Given the description of an element on the screen output the (x, y) to click on. 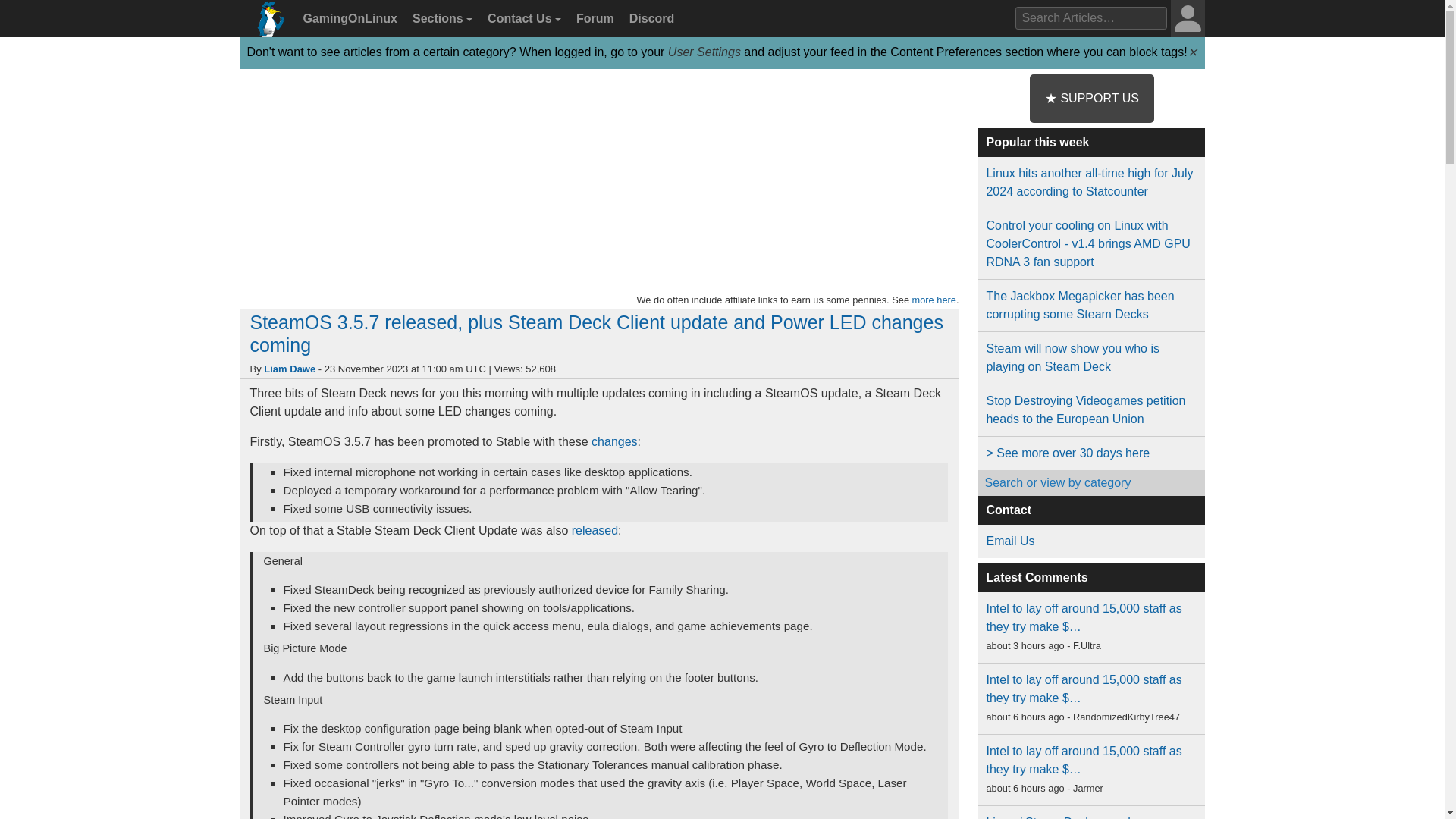
Contact Us (522, 19)
Forum (593, 19)
GamingOnLinux Home (267, 23)
Discord (649, 19)
GamingOnLinux (348, 19)
User Settings (704, 51)
Sections (440, 19)
